Given the description of an element on the screen output the (x, y) to click on. 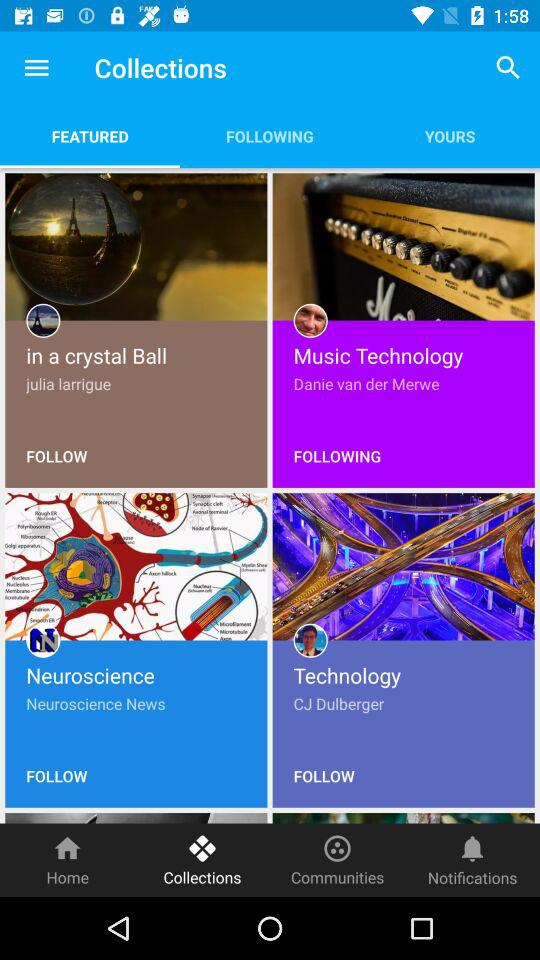
scroll to home icon (67, 859)
